Given the description of an element on the screen output the (x, y) to click on. 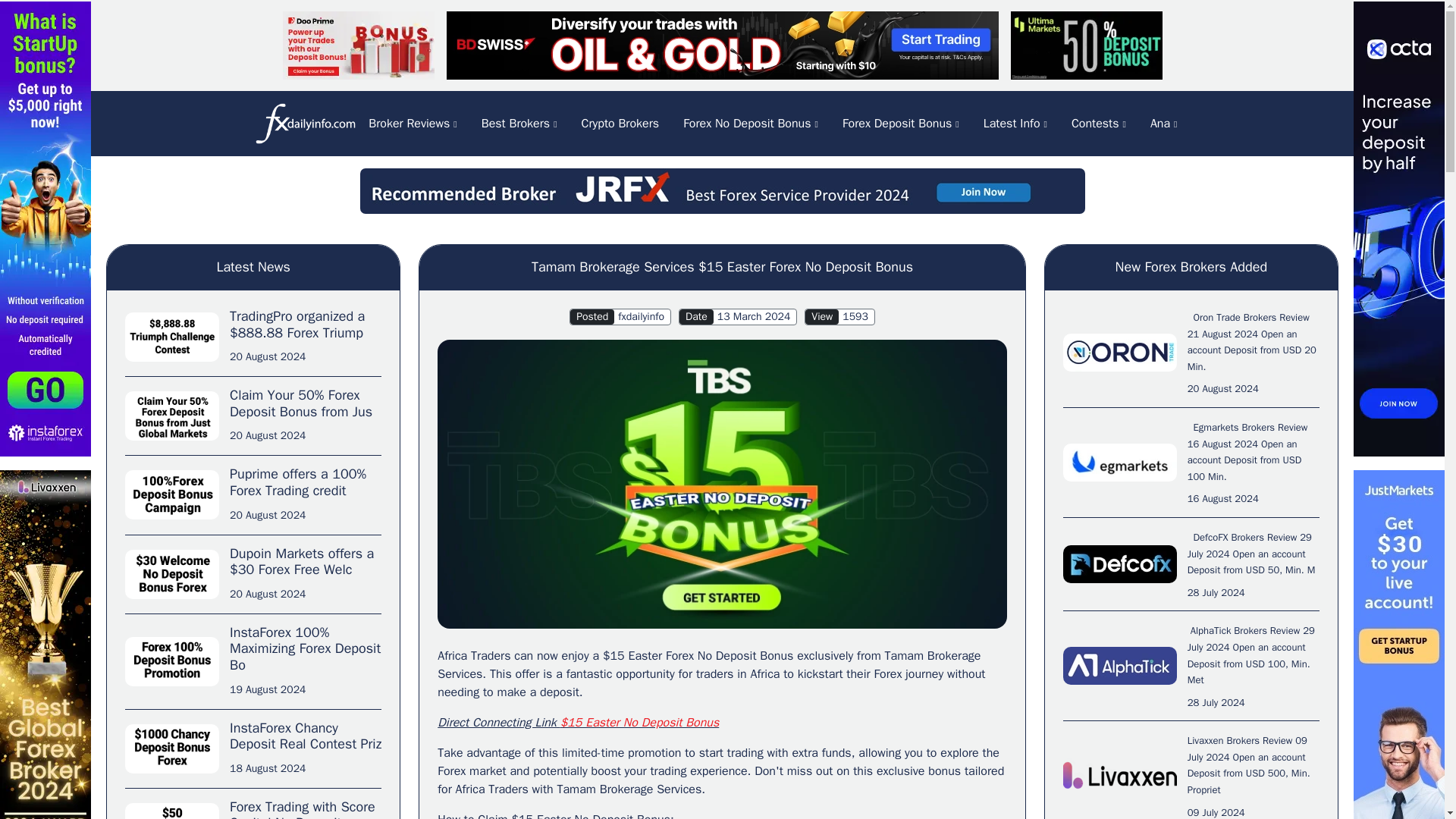
Best Brokers (518, 123)
Forex No Deposit Bonus (750, 123)
Forex Deposit Bonus (900, 123)
Crypto Brokers (620, 123)
Broker Reviews (412, 123)
